Given the description of an element on the screen output the (x, y) to click on. 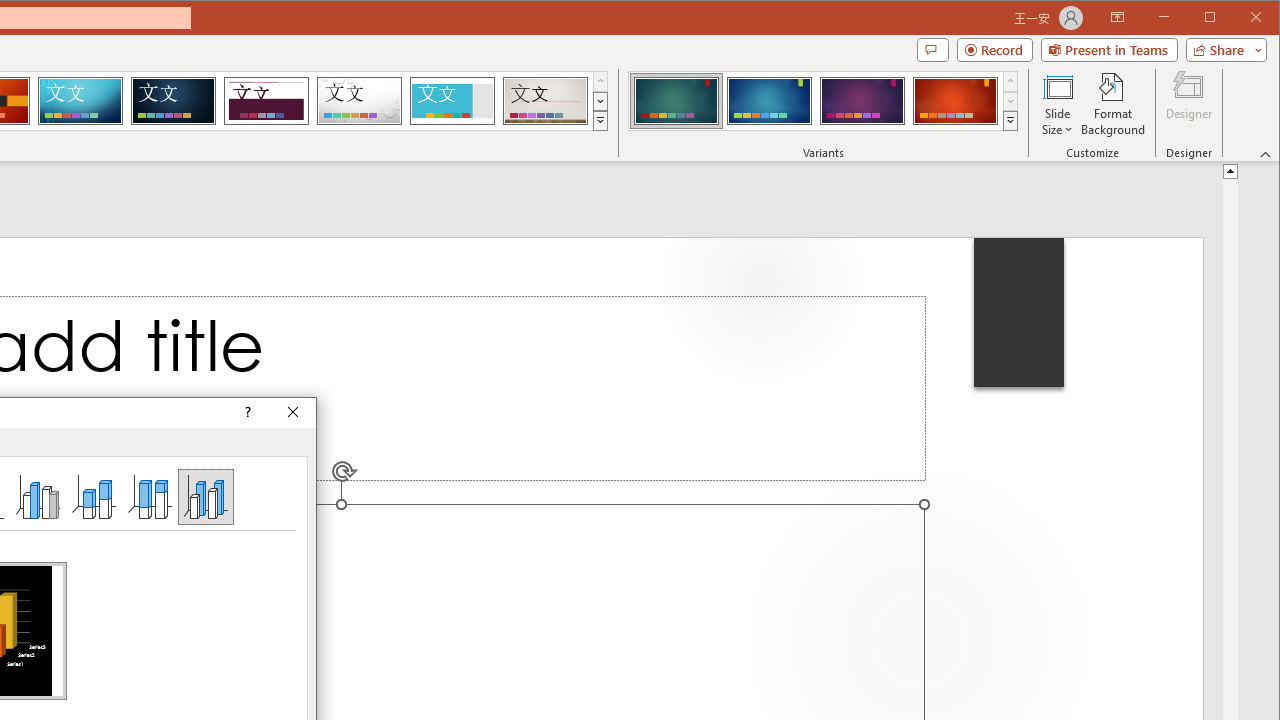
Ion Variant 2 (769, 100)
Frame (452, 100)
Droplet (359, 100)
Dividend (266, 100)
AutomationID: ThemeVariantsGallery (824, 101)
3-D Column (205, 496)
